Given the description of an element on the screen output the (x, y) to click on. 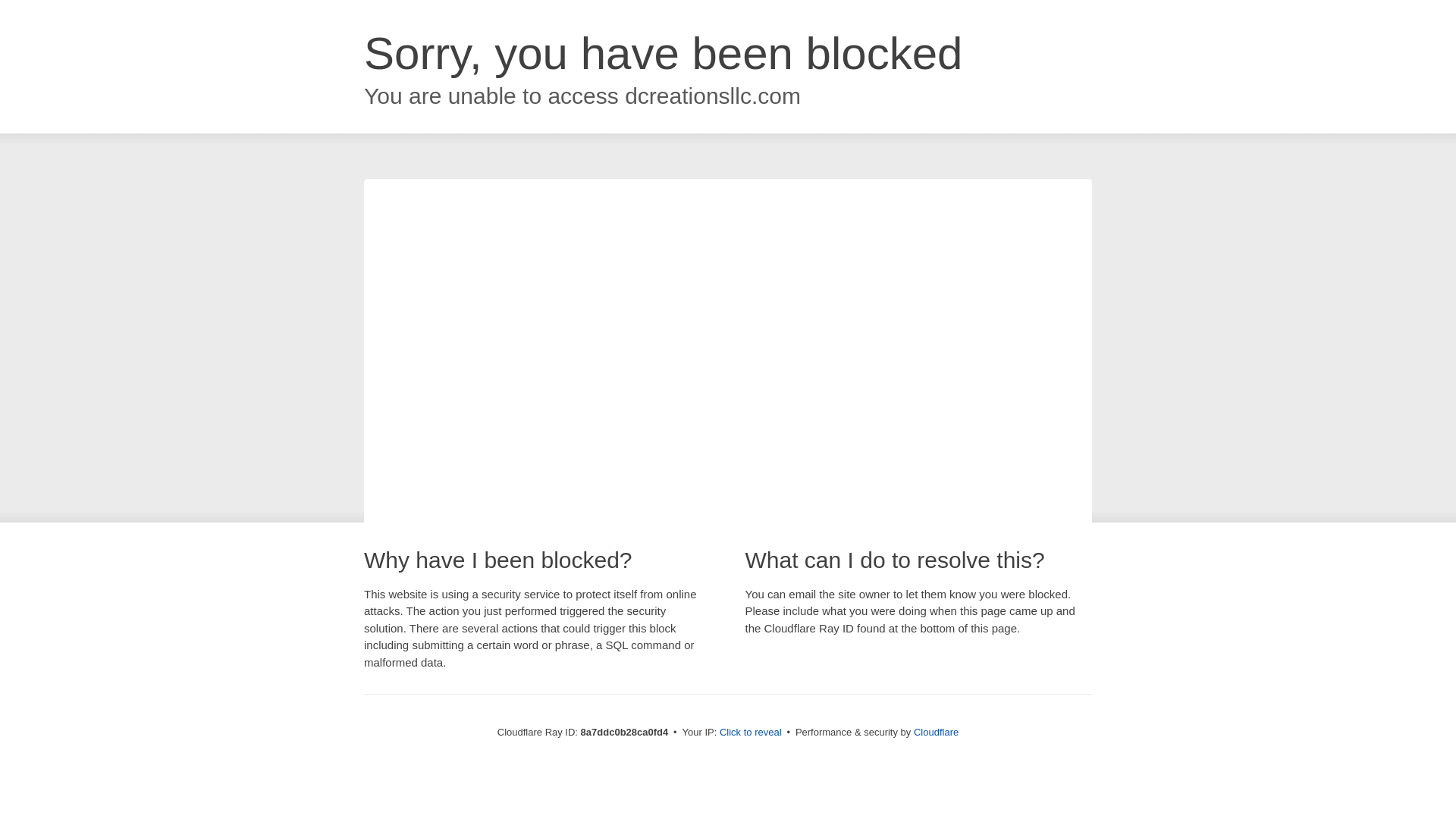
Click to reveal (750, 732)
Cloudflare (936, 731)
